Given the description of an element on the screen output the (x, y) to click on. 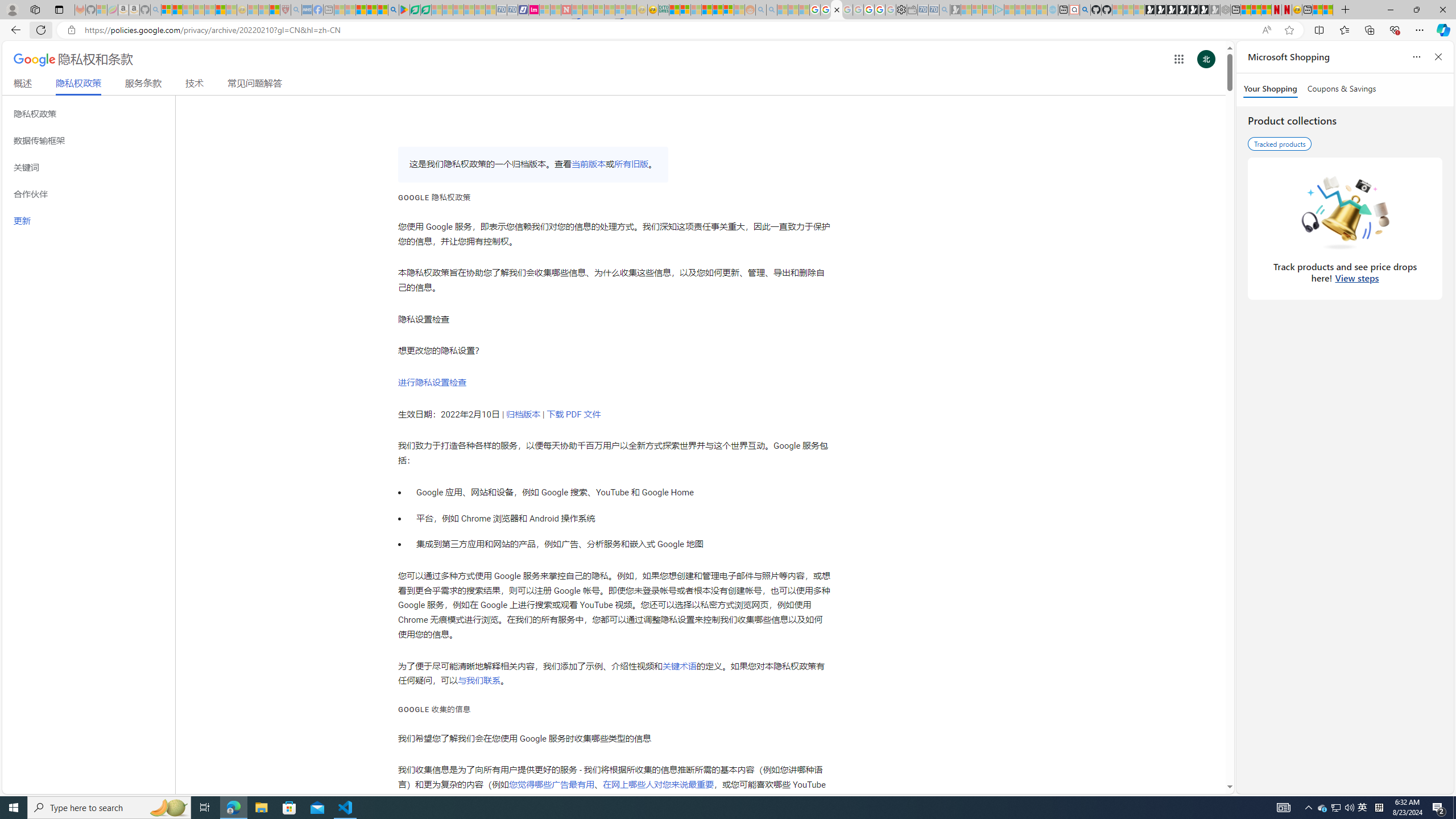
github - Search (1084, 9)
